Given the description of an element on the screen output the (x, y) to click on. 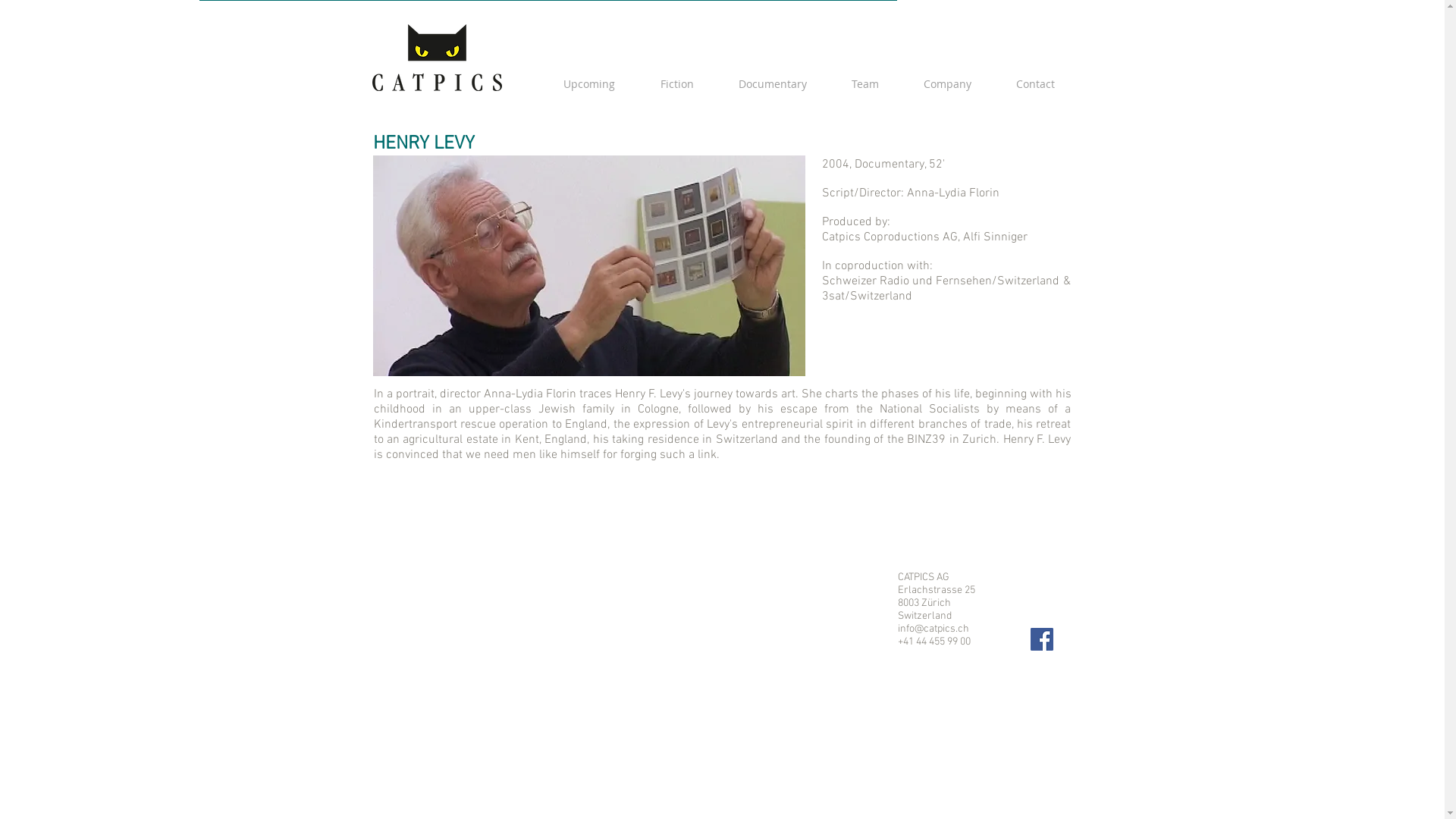
Team Element type: text (865, 84)
info@catpics.ch Element type: text (933, 628)
Company Element type: text (946, 84)
Documentary Element type: text (771, 84)
Upcoming Element type: text (588, 84)
Fiction Element type: text (676, 84)
Contact Element type: text (1034, 84)
